Given the description of an element on the screen output the (x, y) to click on. 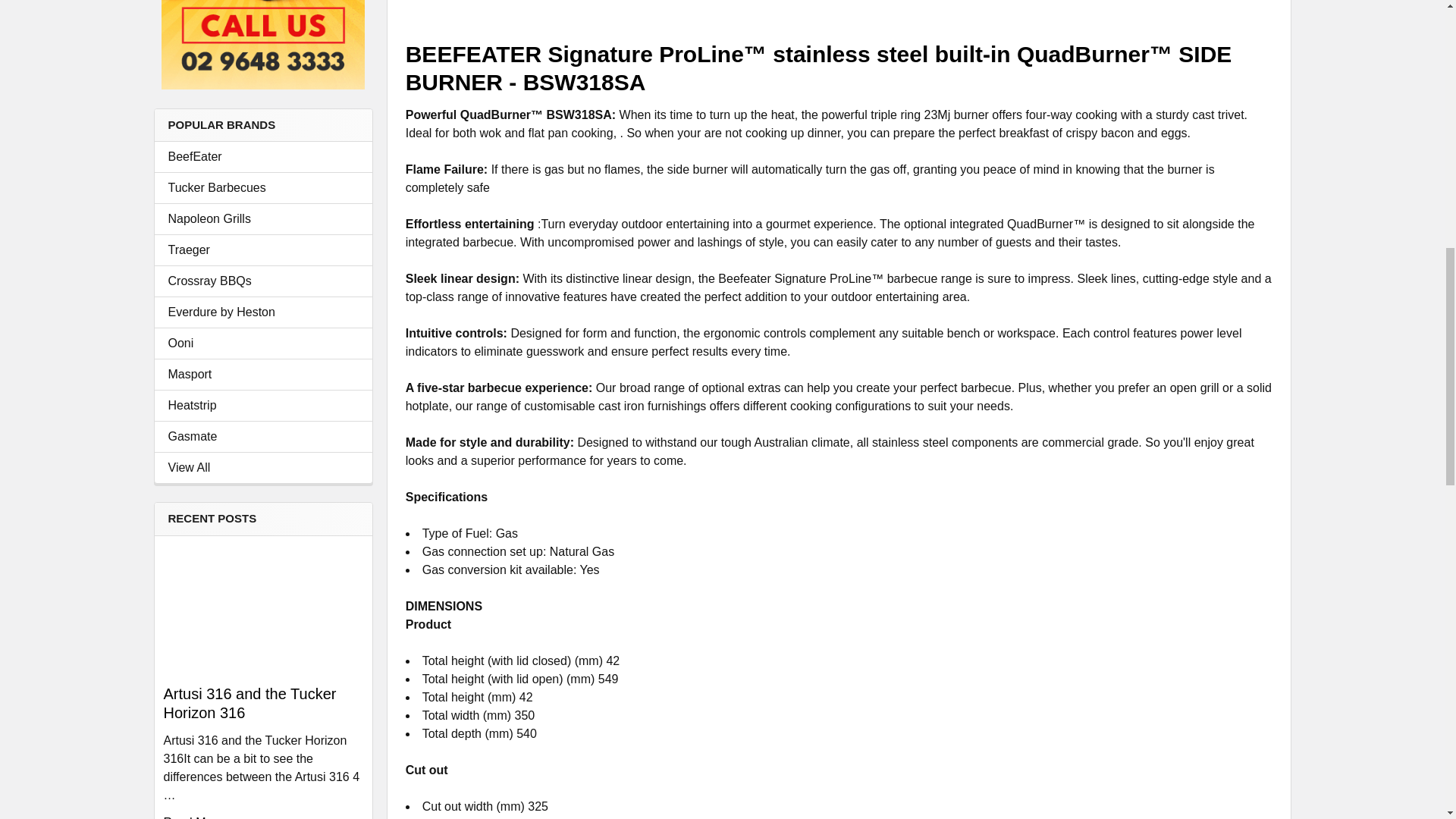
Heatstrip (263, 405)
 Artusi 316 and the Tucker Horizon 316 (262, 608)
BeefEater (263, 157)
Everdure  by Heston (263, 312)
Tucker Barbecues (263, 188)
Traeger (263, 249)
Masport (263, 374)
Gasmate (263, 436)
Ooni (263, 343)
Crossray BBQs (263, 280)
